Given the description of an element on the screen output the (x, y) to click on. 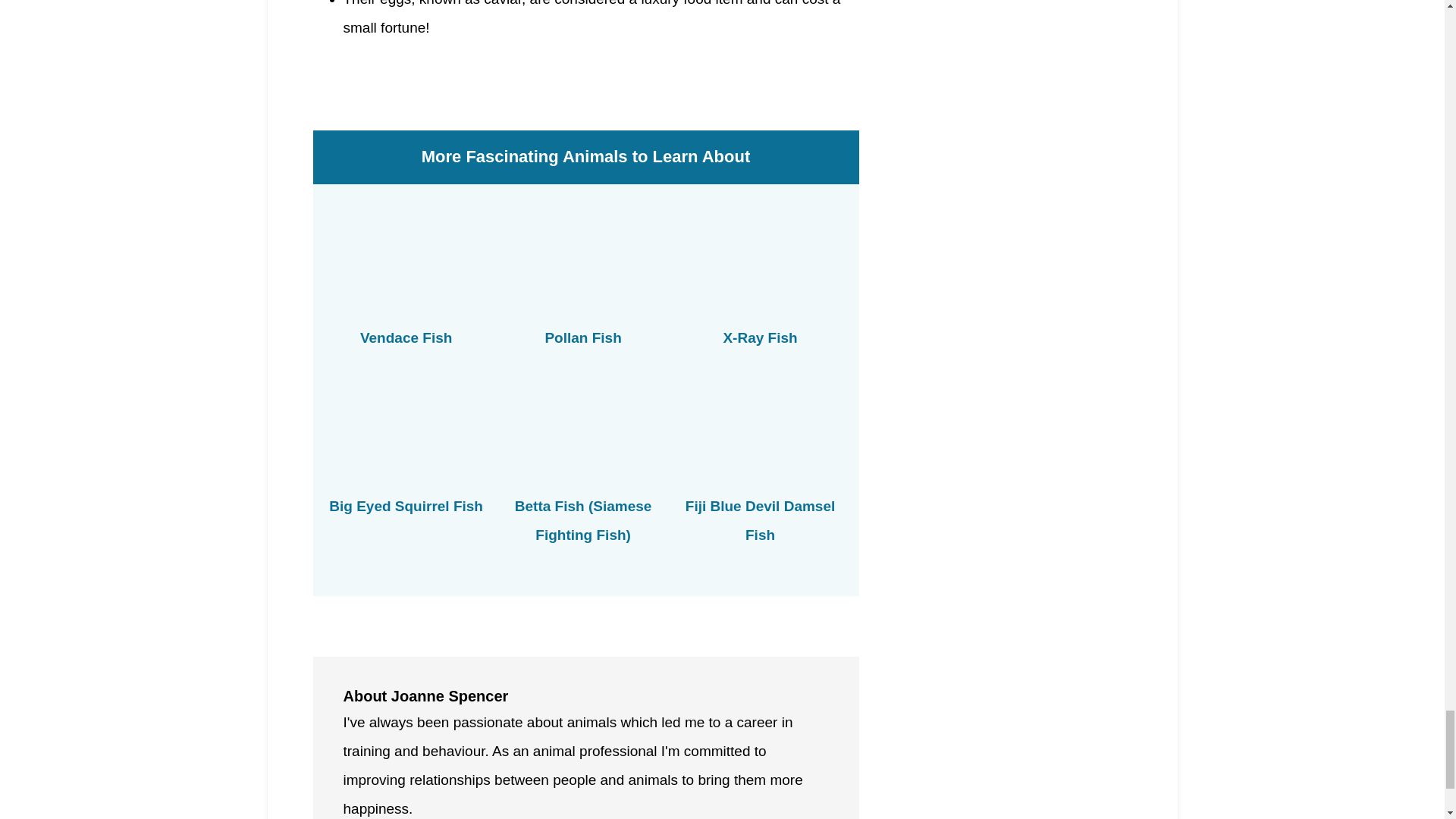
Pollan Fish (582, 337)
Vendace Fish (405, 337)
